Given the description of an element on the screen output the (x, y) to click on. 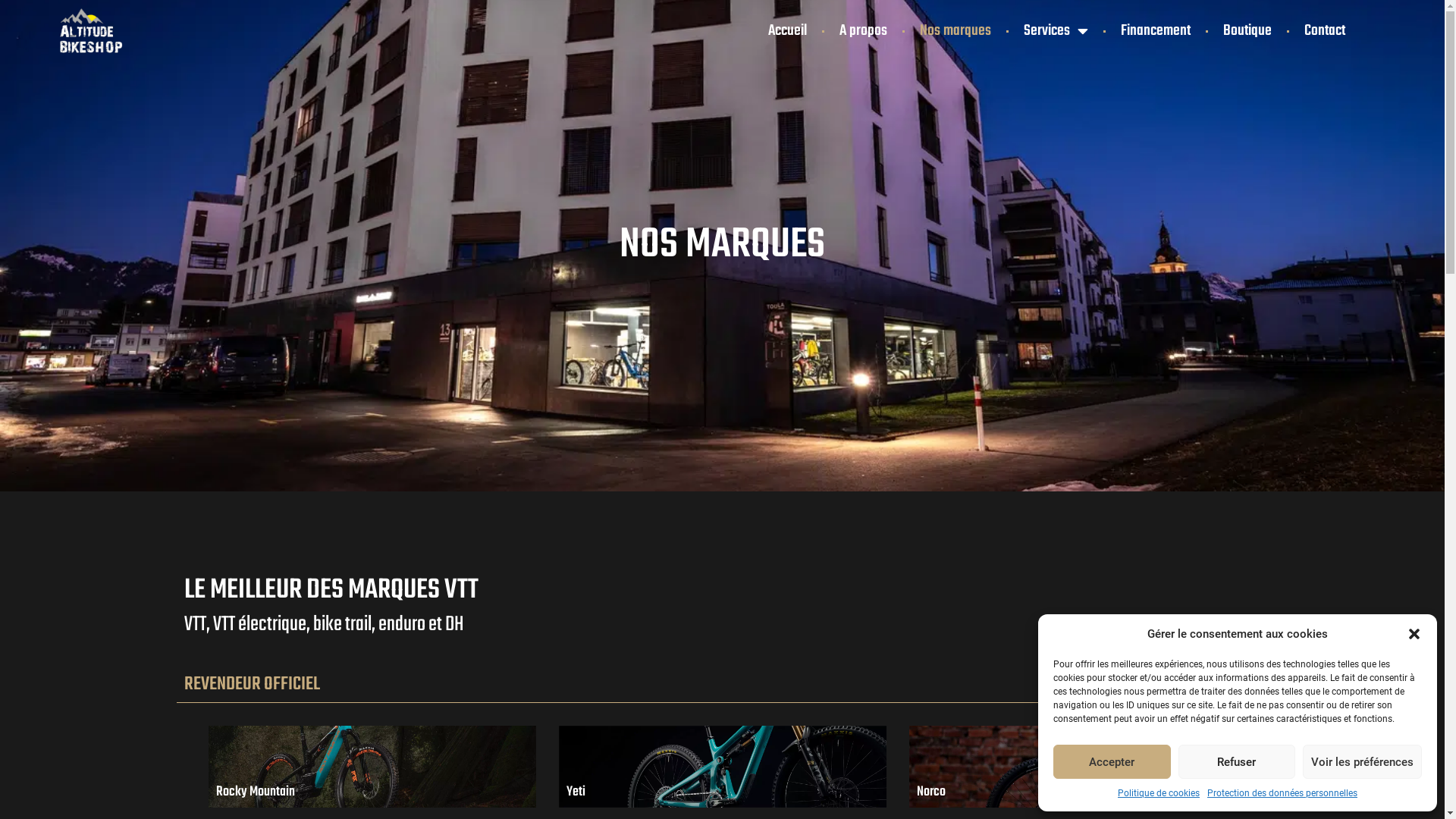
Boutique Element type: text (1247, 30)
Yeti Element type: text (721, 766)
Financement Element type: text (1155, 30)
Rocky Mountain Element type: text (371, 766)
Accepter Element type: text (1111, 761)
Services Element type: text (1055, 30)
Politique de cookies Element type: text (1158, 793)
Accueil Element type: text (787, 30)
A propos Element type: text (863, 30)
Nos marques Element type: text (955, 30)
Norco Element type: text (1072, 766)
Refuser Element type: text (1236, 761)
Contact Element type: text (1324, 30)
